Given the description of an element on the screen output the (x, y) to click on. 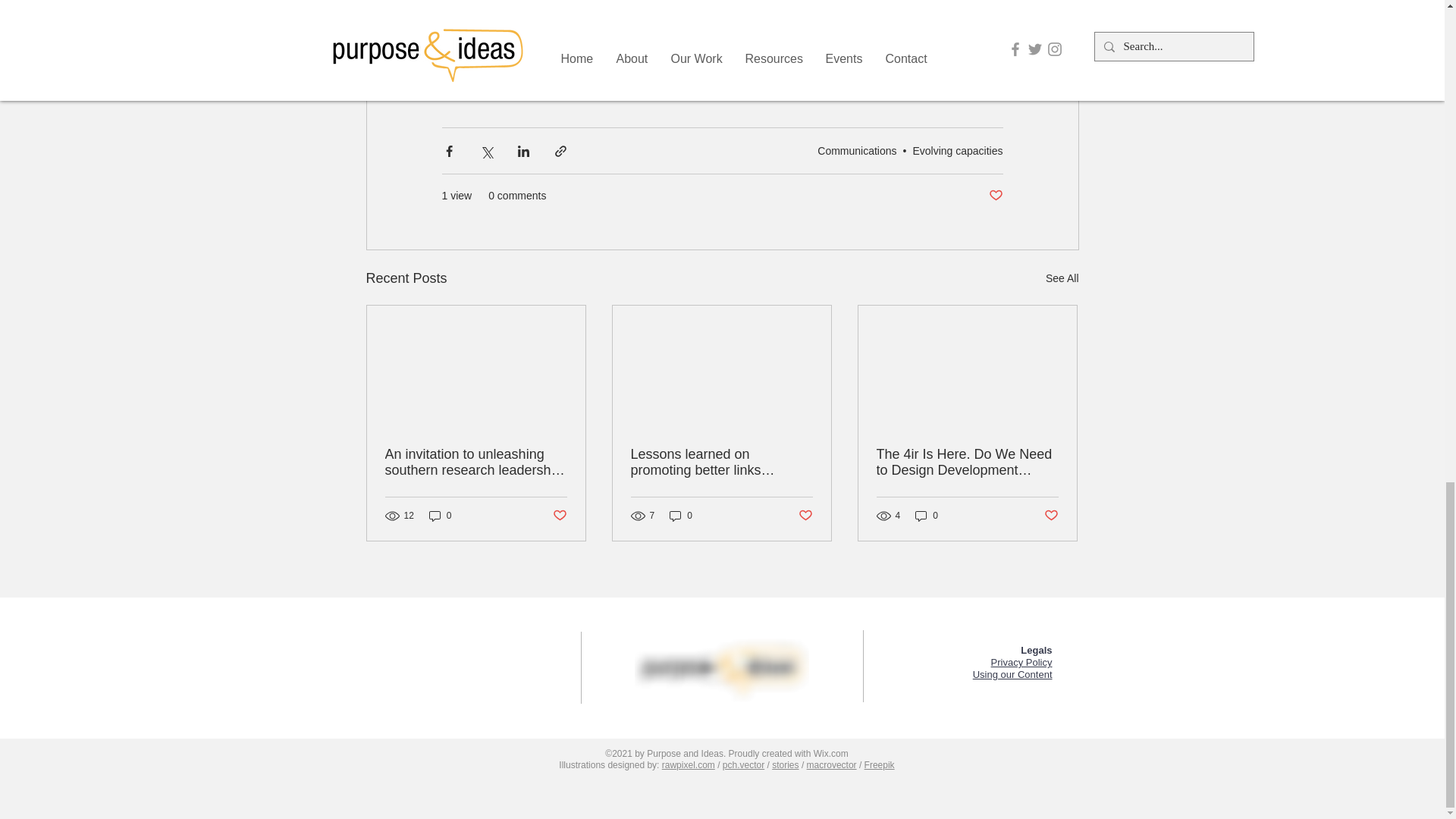
Post not marked as liked (995, 195)
See All (1061, 278)
Communications (856, 150)
Evolving capacities (957, 150)
